Given the description of an element on the screen output the (x, y) to click on. 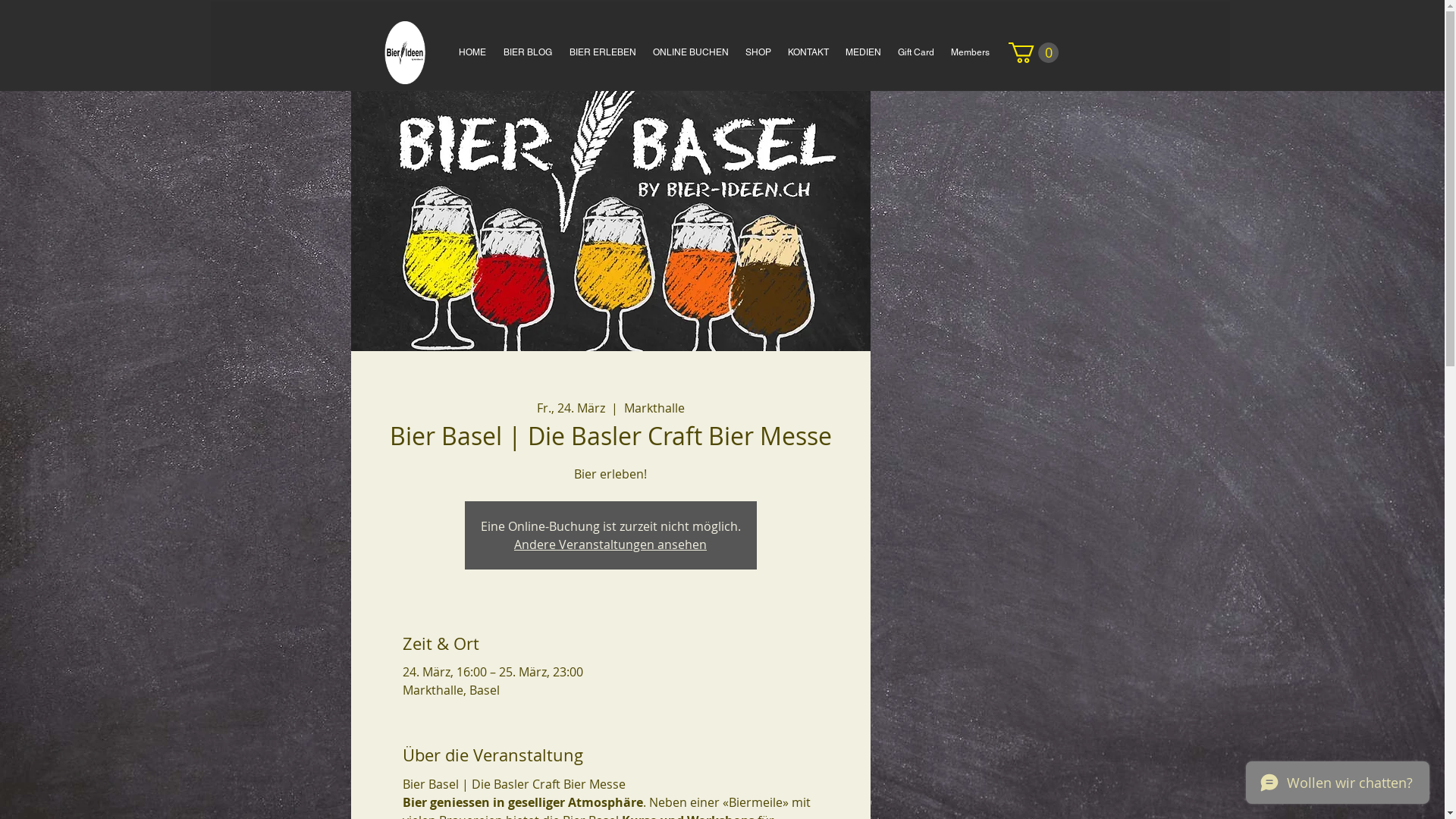
Members Element type: text (969, 52)
Andere Veranstaltungen ansehen Element type: text (610, 544)
HOME Element type: text (472, 52)
SHOP Element type: text (758, 52)
BIER ERLEBEN Element type: text (602, 52)
Gift Card Element type: text (914, 52)
KONTAKT Element type: text (808, 52)
MEDIEN Element type: text (863, 52)
BIER BLOG Element type: text (527, 52)
0 Element type: text (1033, 52)
ONLINE BUCHEN Element type: text (690, 52)
